Given the description of an element on the screen output the (x, y) to click on. 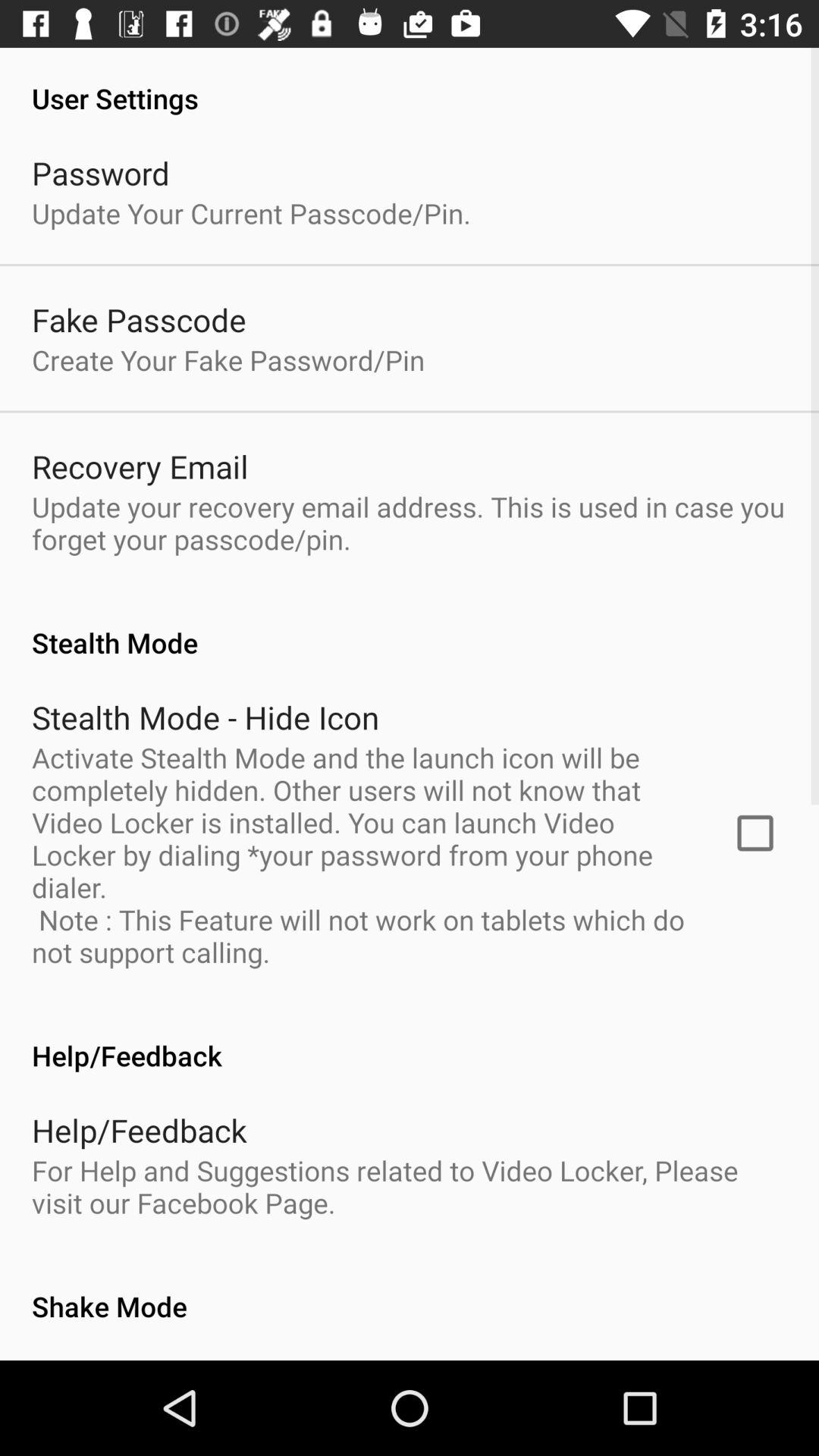
press app below stealth mode (755, 833)
